Given the description of an element on the screen output the (x, y) to click on. 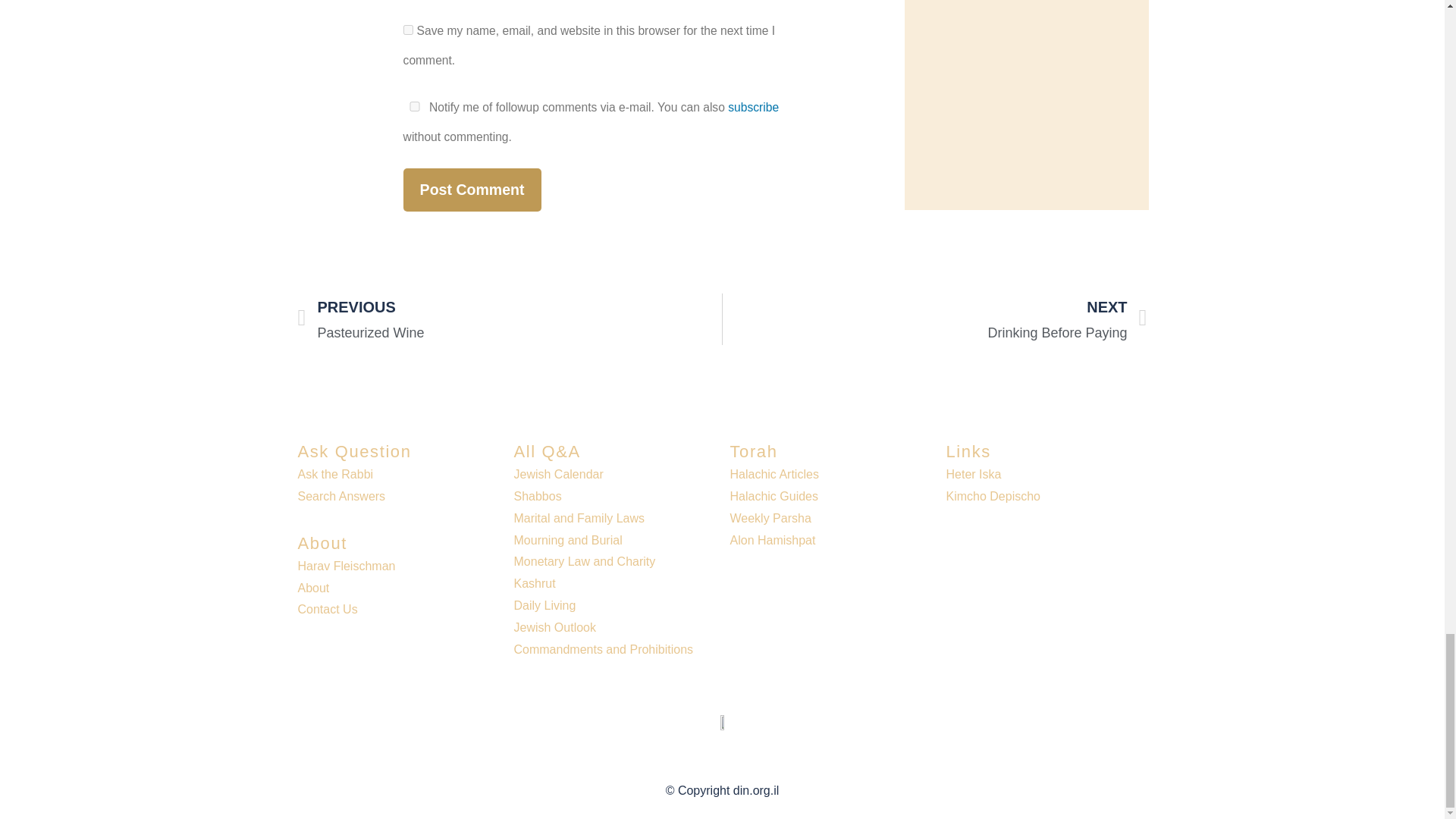
yes (414, 106)
Post Comment (472, 189)
yes (408, 30)
